Given the description of an element on the screen output the (x, y) to click on. 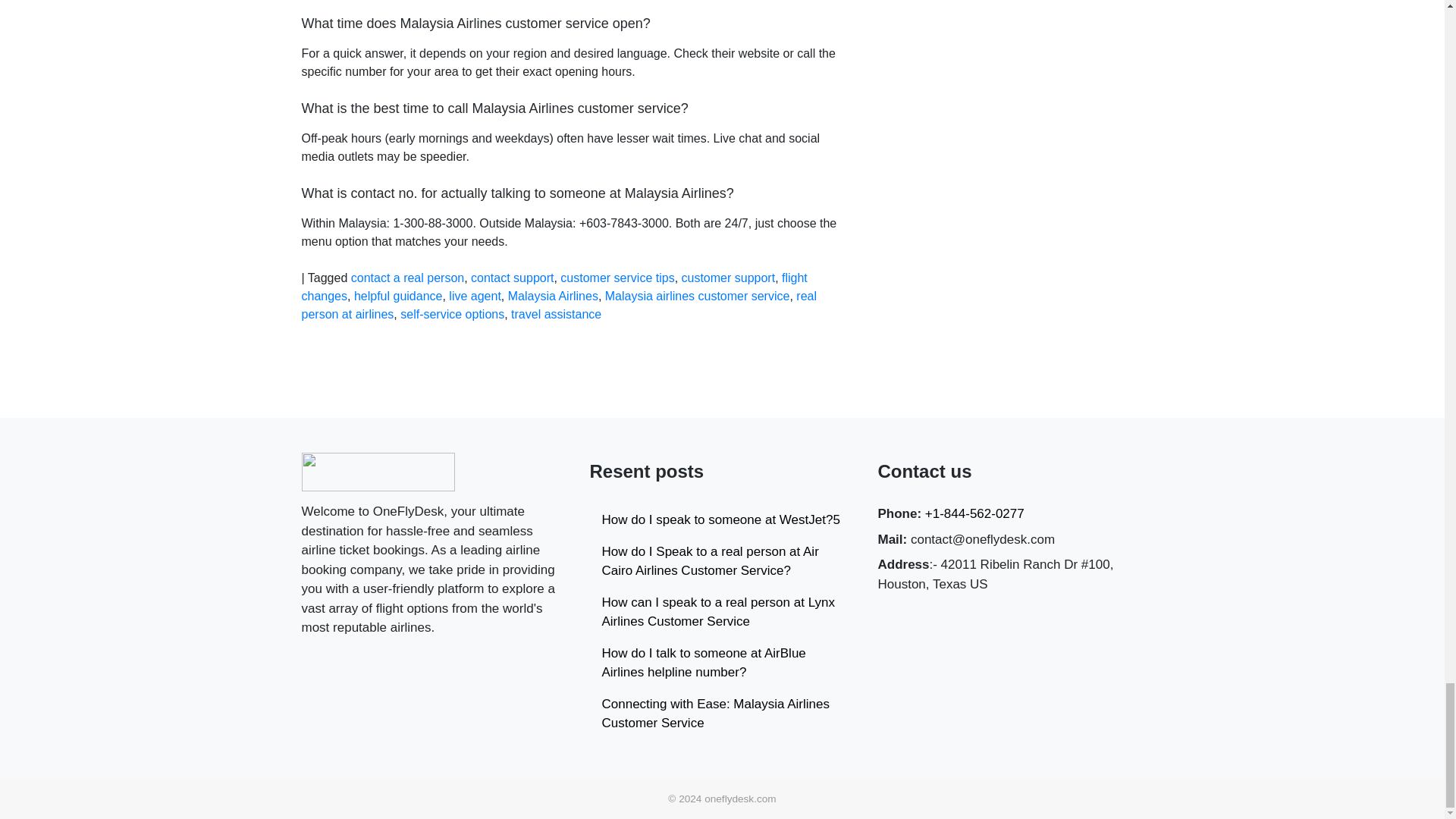
How do I speak to someone at WestJet?5 (721, 520)
customer service tips (617, 277)
helpful guidance (397, 295)
Connecting with Ease: Malaysia Airlines Customer Service (721, 713)
customer support (728, 277)
travel assistance (556, 314)
flight changes (554, 286)
oneflydesk.com (740, 798)
